Given the description of an element on the screen output the (x, y) to click on. 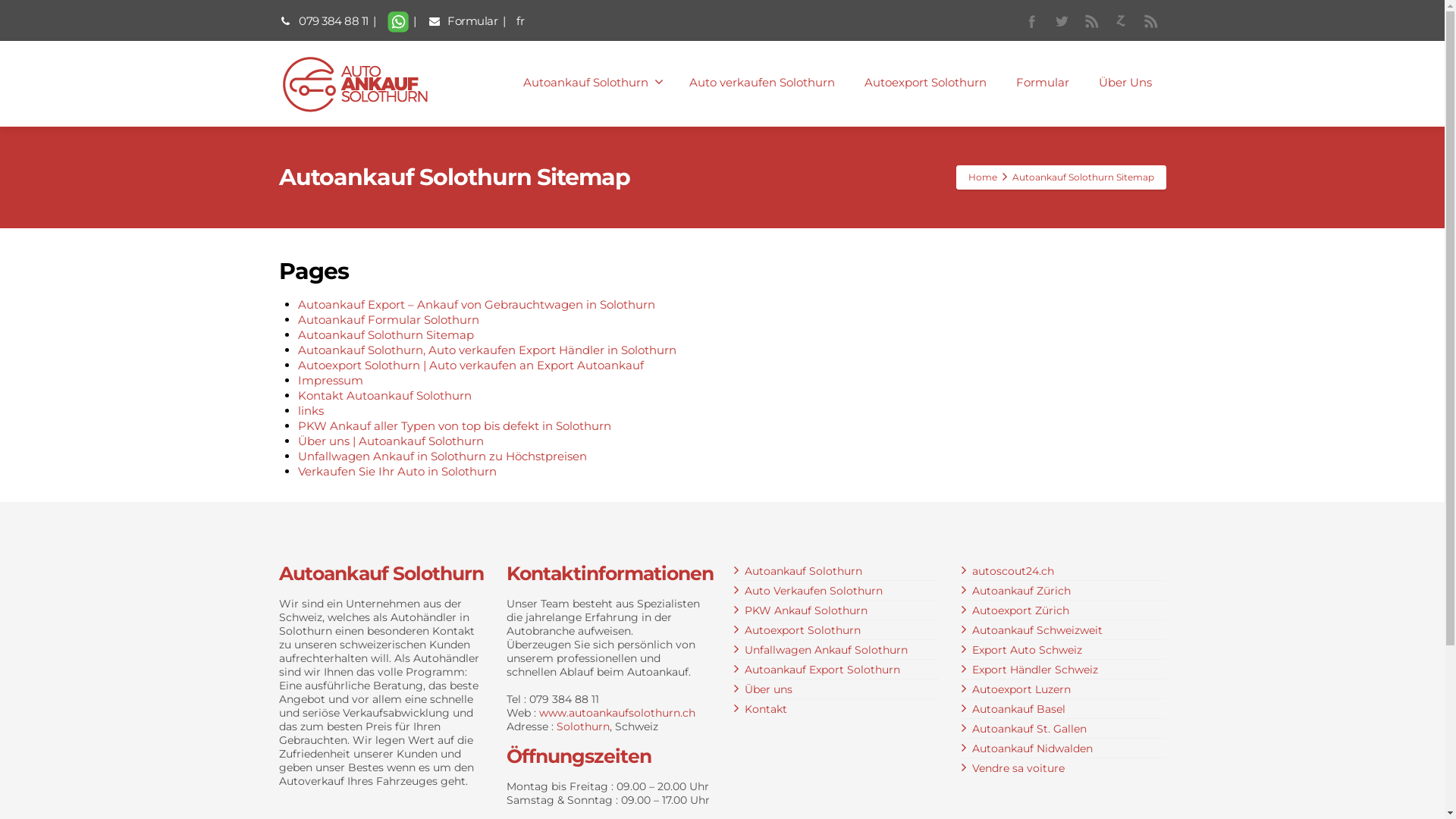
Verkaufen Sie Ihr Auto in Solothurn Element type: text (396, 471)
Impressum Element type: text (329, 380)
Autoankauf Formular Solothurn Element type: text (387, 319)
Autoankauf Solothurn Element type: text (590, 82)
Kontakt Element type: text (765, 708)
Rss Element type: hover (1149, 21)
Auto Verkaufen Solothurn Element type: text (813, 590)
Solothurn Element type: text (582, 726)
Auto verkaufen Solothurn Element type: text (761, 82)
Formular Element type: text (463, 20)
PKW Ankauf aller Typen von top bis defekt in Solothurn Element type: text (453, 425)
Autoexport Solothurn Element type: text (924, 82)
Kontakt Autoankauf Solothurn Element type: text (383, 395)
Autoankauf Schweizweit Element type: text (1037, 630)
Export Auto Schweiz Element type: text (1027, 649)
Autoankauf Solothurn Sitemap Element type: text (385, 334)
Facebook Element type: hover (1031, 21)
Twitter Element type: hover (1061, 21)
Autoankauf St. Gallen Element type: text (1029, 728)
Unfallwagen Ankauf Solothurn Element type: text (825, 649)
Zerply Element type: hover (1120, 21)
Formular Element type: text (1041, 82)
Autoexport Luzern Element type: text (1021, 689)
Autoexport Solothurn | Auto verkaufen an Export Autoankauf Element type: text (470, 364)
Autoankauf Basel Element type: text (1018, 708)
PKW Ankauf Solothurn Element type: text (805, 610)
autoscout24.ch Element type: text (1013, 570)
www.autoankaufsolothurn.ch Element type: text (616, 712)
Vendre sa voiture Element type: text (1018, 768)
079 384 88 11 Element type: text (323, 20)
Autoexport Solothurn Element type: text (802, 630)
Rss Element type: hover (1090, 21)
Autoankauf Nidwalden Element type: text (1032, 748)
Home Element type: text (981, 176)
Autoankauf Export Solothurn Element type: text (822, 669)
fr Element type: text (520, 20)
links Element type: text (310, 410)
Autoankauf Solothurn Element type: text (803, 570)
